Given the description of an element on the screen output the (x, y) to click on. 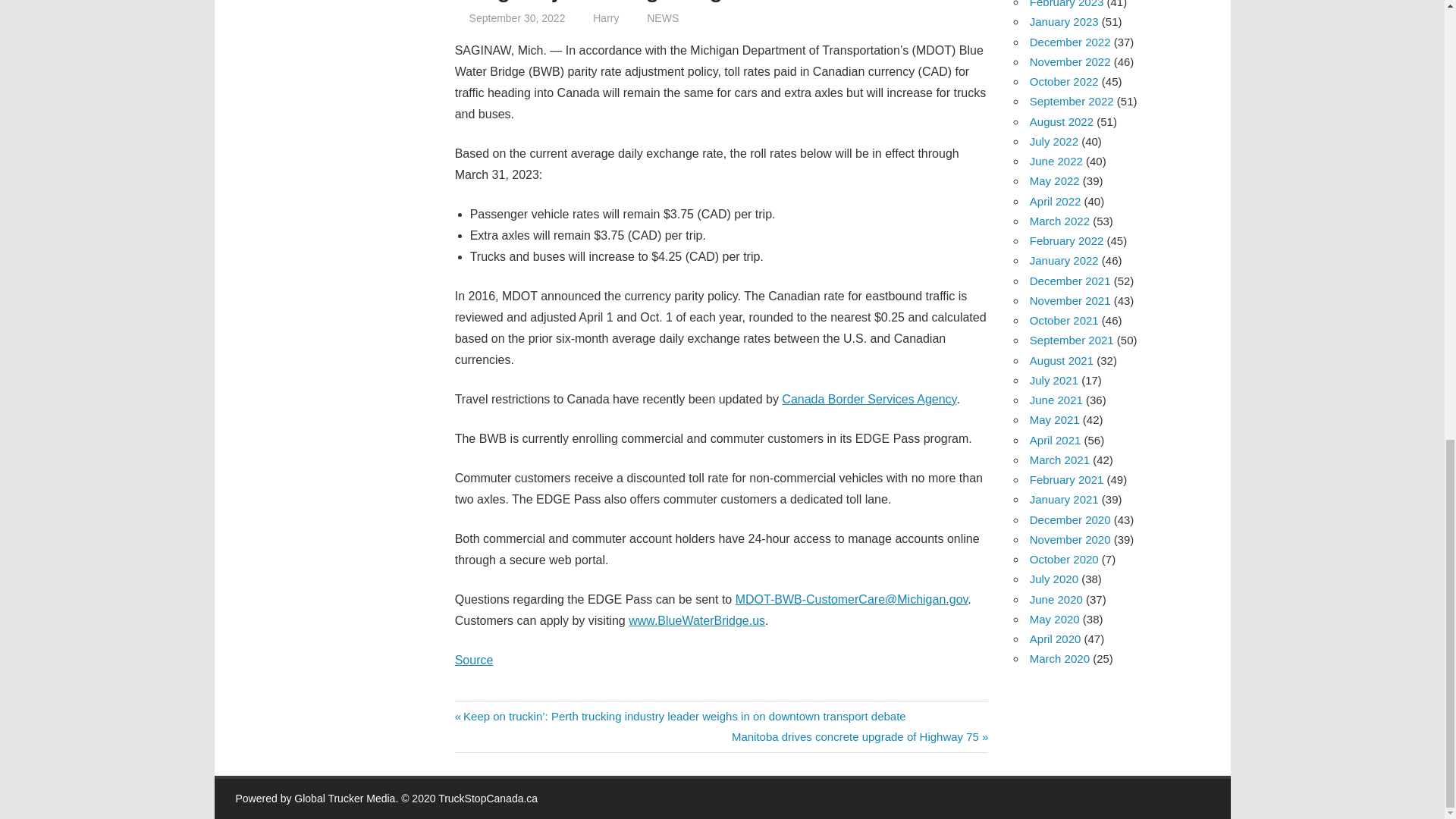
View all posts by Harry (605, 18)
Canada Border Services Agency (868, 399)
www.BlueWaterBridge.us (696, 620)
NEWS (662, 18)
Source (473, 659)
February 2023 (1066, 4)
4:52 pm (517, 18)
September 30, 2022 (860, 736)
November 2022 (517, 18)
Harry (1069, 61)
January 2023 (605, 18)
December 2022 (1064, 21)
